Given the description of an element on the screen output the (x, y) to click on. 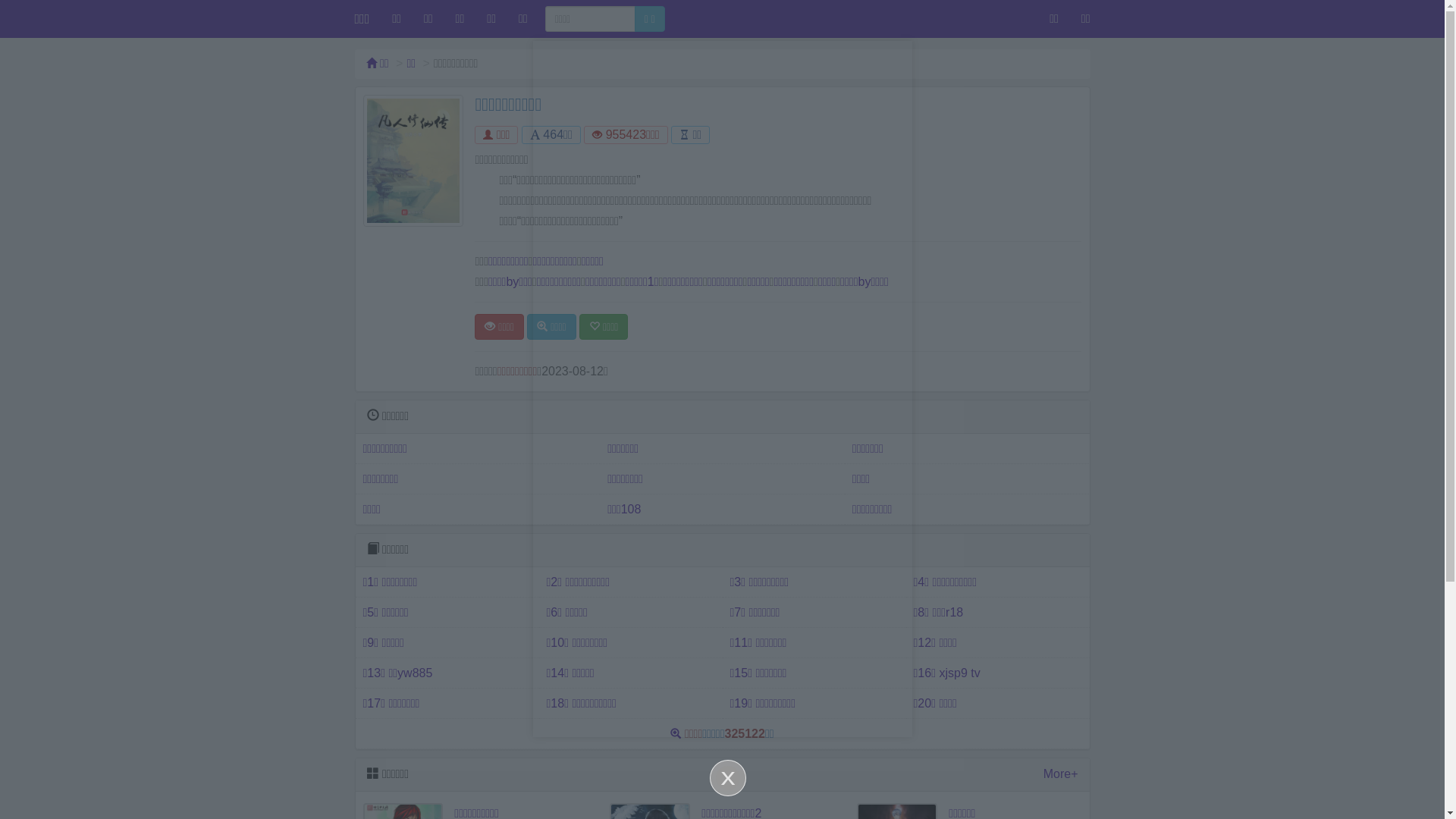
More+ Element type: text (1060, 774)
